Given the description of an element on the screen output the (x, y) to click on. 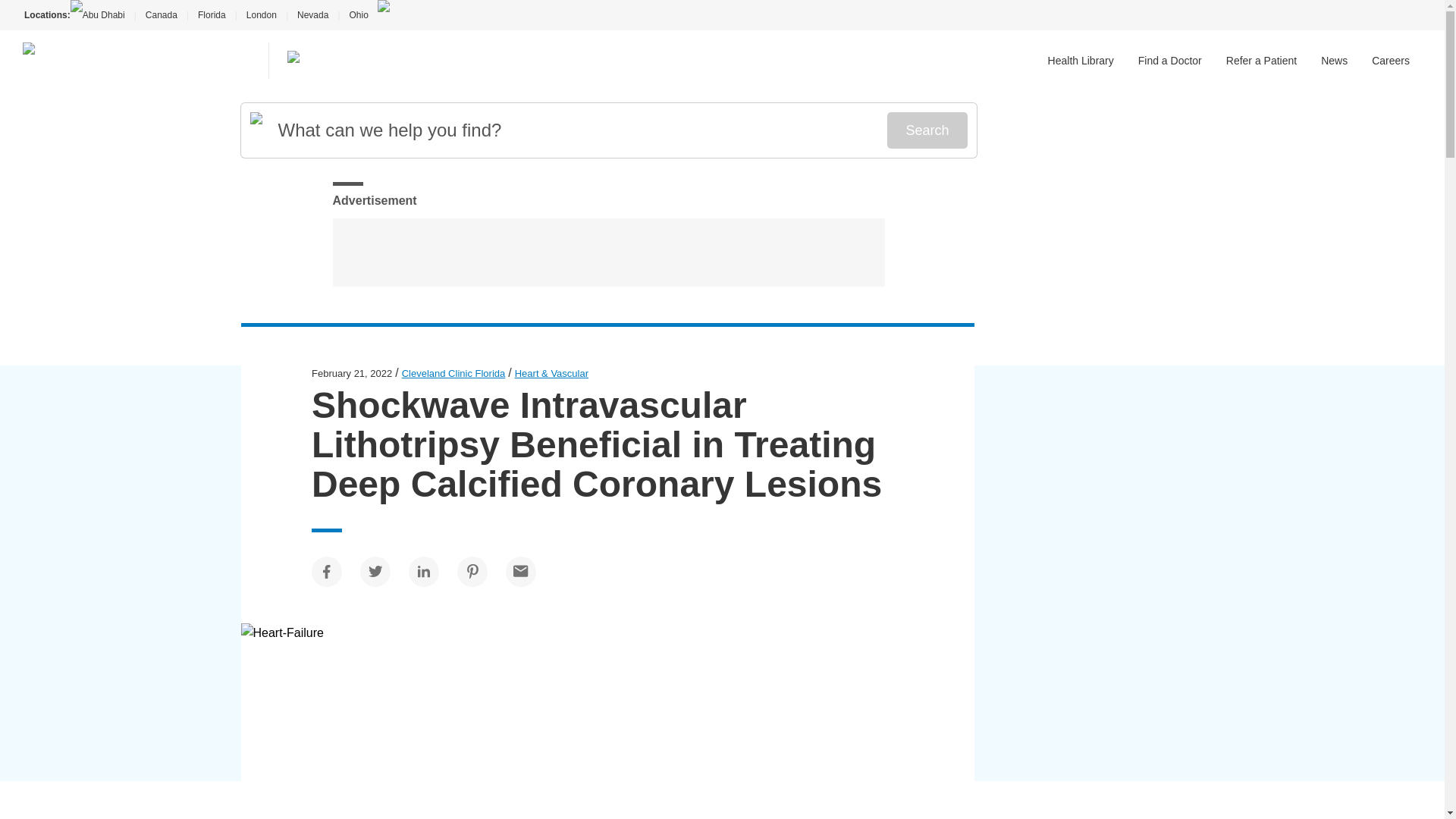
London (261, 15)
Health Library (1080, 60)
News (1334, 60)
Careers (1390, 60)
Find a Doctor (1170, 60)
Ohio (358, 15)
Florida (211, 15)
Cleveland Clinic Florida (453, 373)
Abu Dhabi (101, 15)
Refer a Patient (1261, 60)
Nevada (312, 15)
Canada (161, 15)
